Given the description of an element on the screen output the (x, y) to click on. 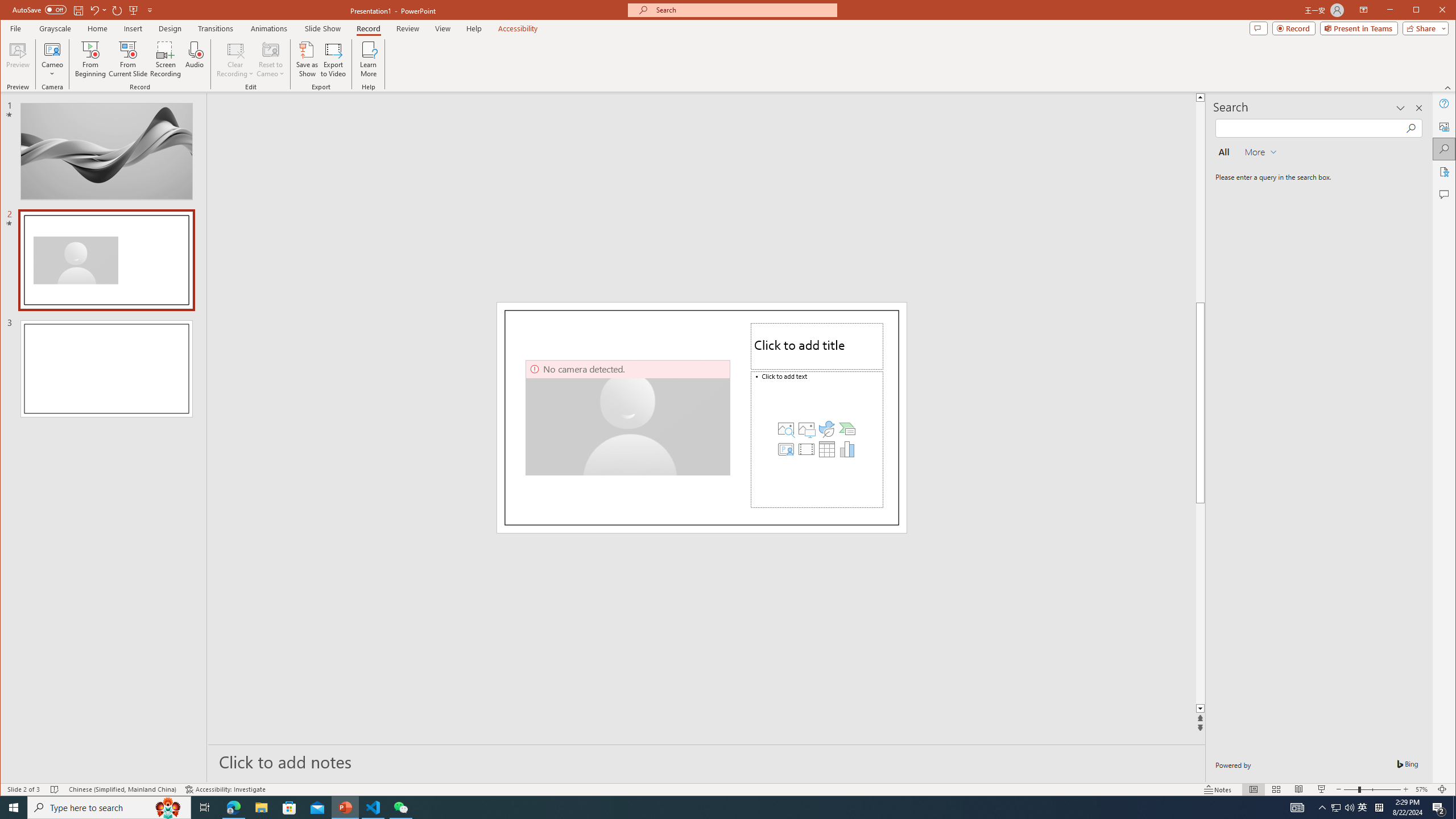
Zoom 57% (1422, 789)
